Given the description of an element on the screen output the (x, y) to click on. 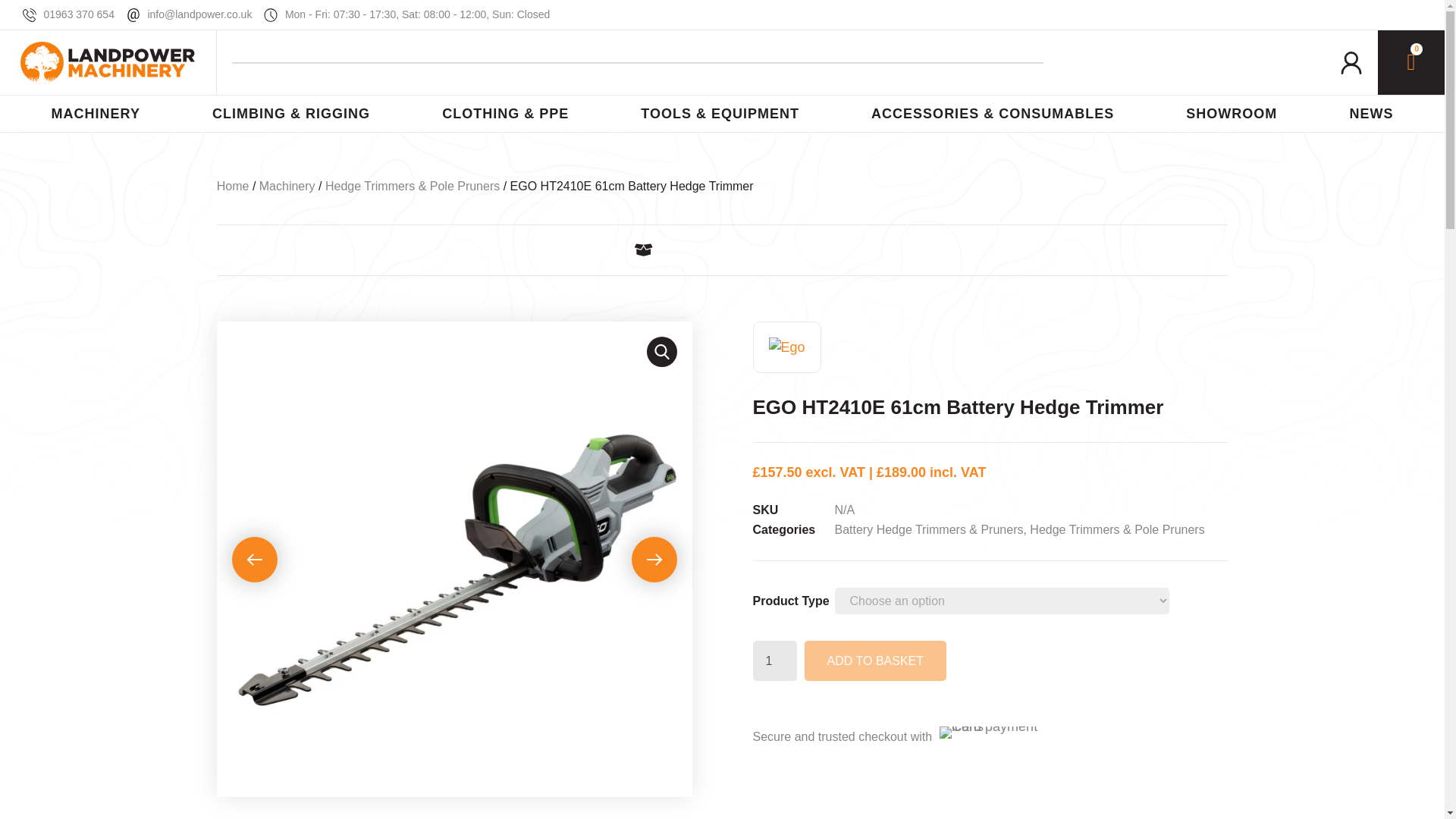
01963 370 654 (69, 14)
Ego (786, 347)
1 (774, 660)
MACHINERY (95, 113)
